Given the description of an element on the screen output the (x, y) to click on. 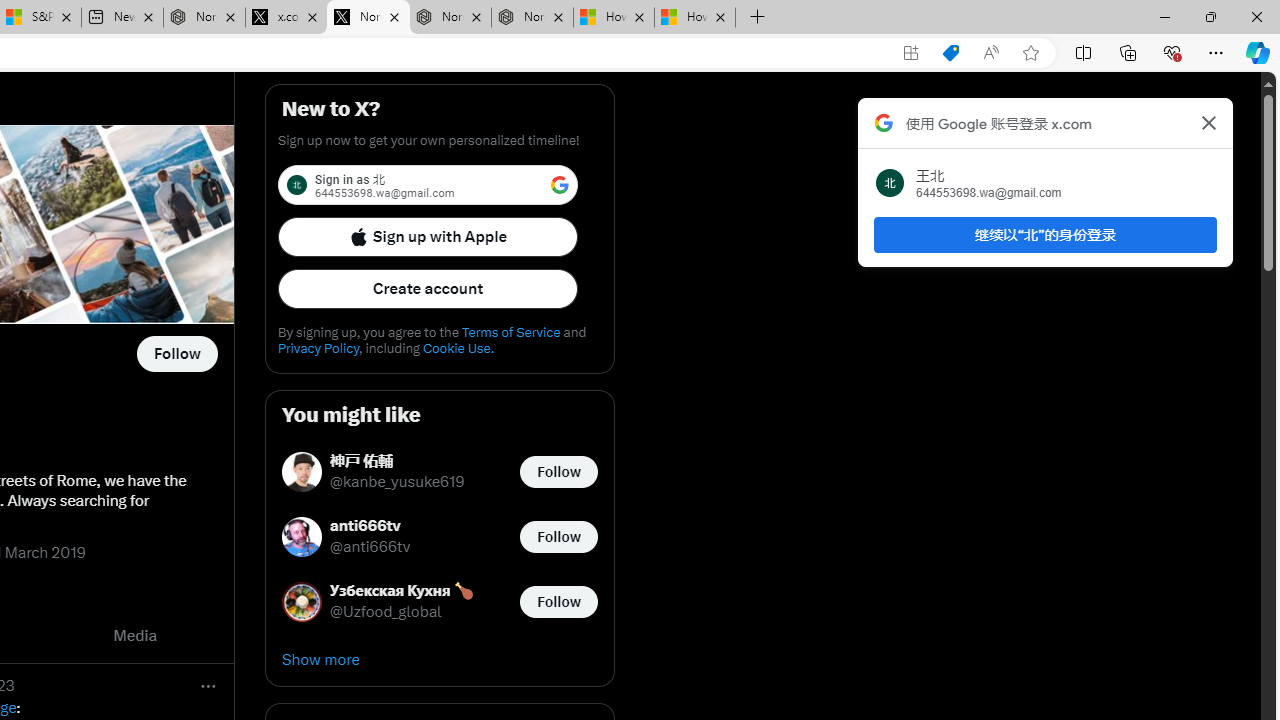
anti666tv (370, 526)
